Given the description of an element on the screen output the (x, y) to click on. 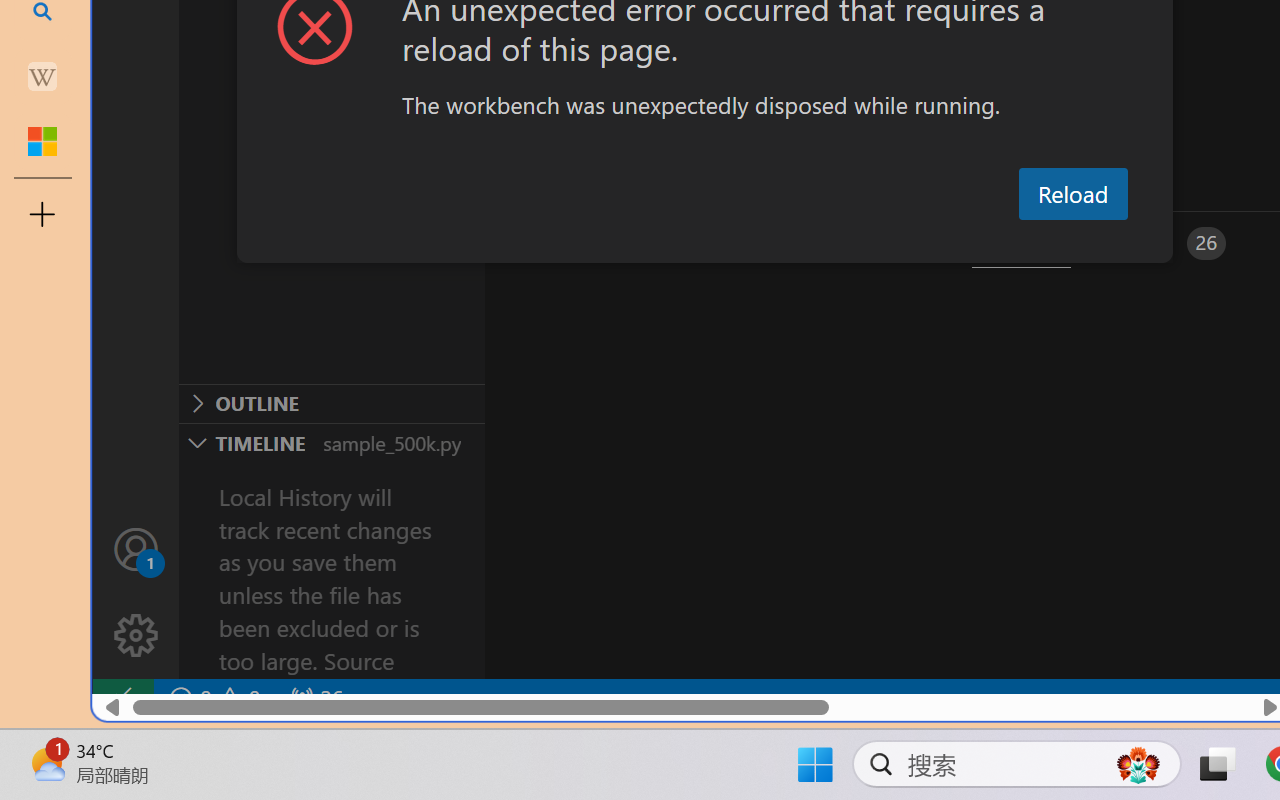
Timeline Section (331, 442)
Debug Console (Ctrl+Shift+Y) (854, 243)
Reload (1071, 193)
